Given the description of an element on the screen output the (x, y) to click on. 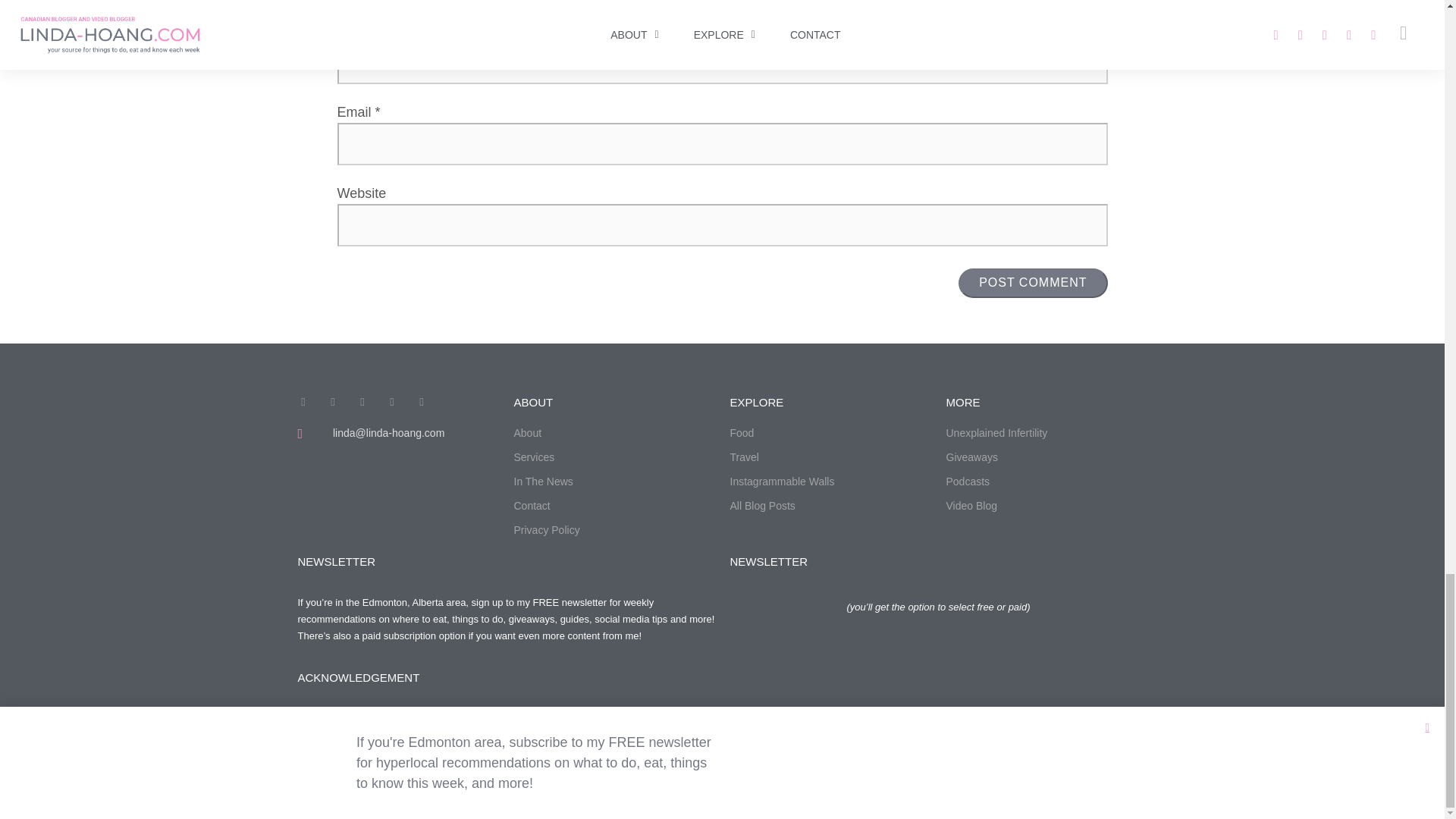
Post Comment (1032, 282)
